Given the description of an element on the screen output the (x, y) to click on. 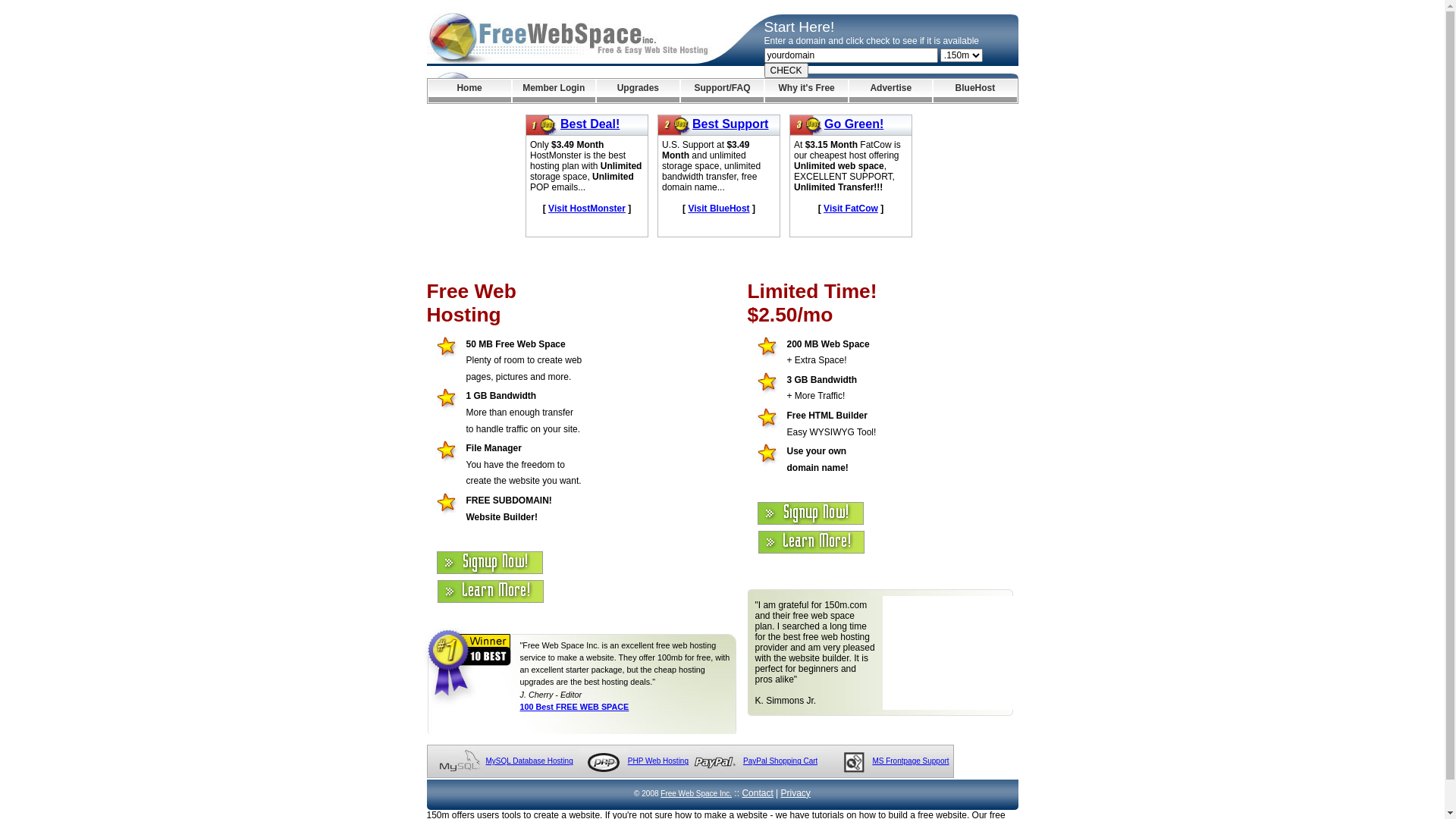
100 Best FREE WEB SPACE Element type: text (574, 706)
Free Web Space Inc. Element type: text (695, 793)
Home Element type: text (468, 90)
Upgrades Element type: text (637, 90)
Advertise Element type: text (890, 90)
MS Frontpage Support Element type: text (910, 760)
MySQL Database Hosting Element type: text (528, 760)
Privacy Element type: text (795, 792)
PayPal Shopping Cart Element type: text (780, 760)
PHP Web Hosting Element type: text (657, 760)
Support/FAQ Element type: text (721, 90)
BlueHost Element type: text (974, 90)
Contact Element type: text (756, 792)
CHECK Element type: text (786, 70)
Why it's Free Element type: text (806, 90)
Member Login Element type: text (553, 90)
